Given the description of an element on the screen output the (x, y) to click on. 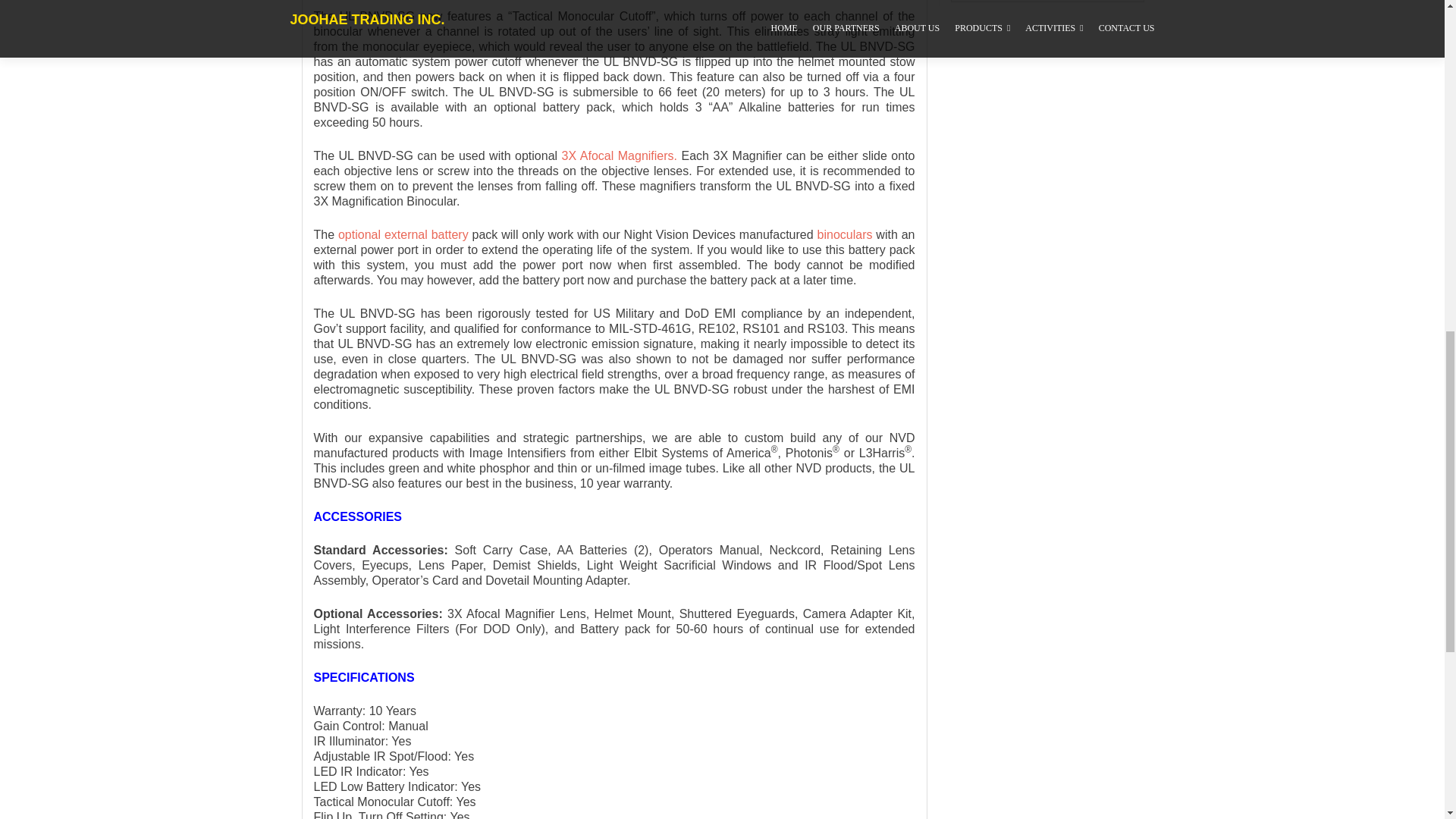
optional external battery (402, 234)
binoculars (844, 234)
3X Afocal Magnifiers. (619, 155)
